Given the description of an element on the screen output the (x, y) to click on. 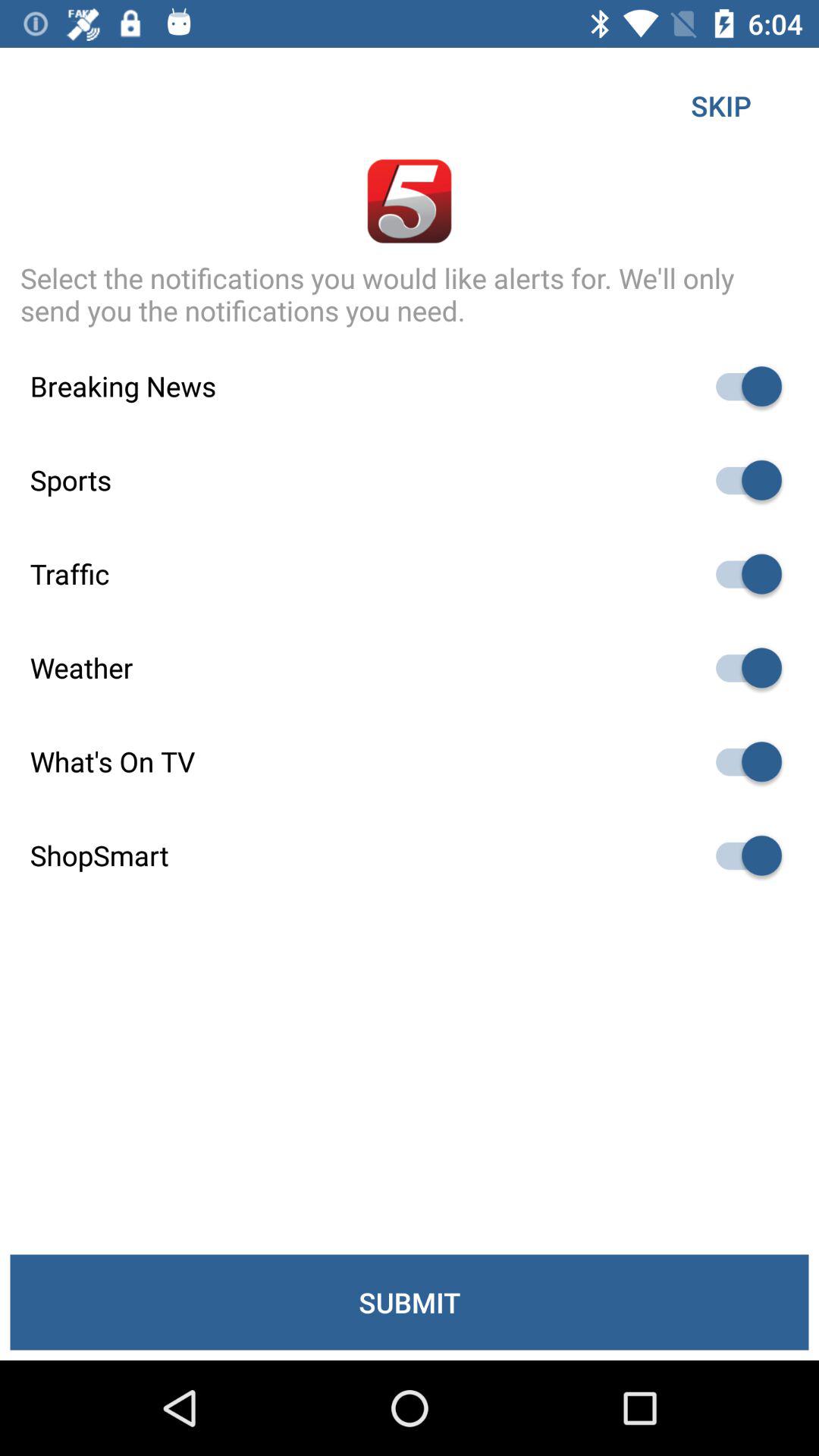
hit shopsmart option (741, 855)
